Given the description of an element on the screen output the (x, y) to click on. 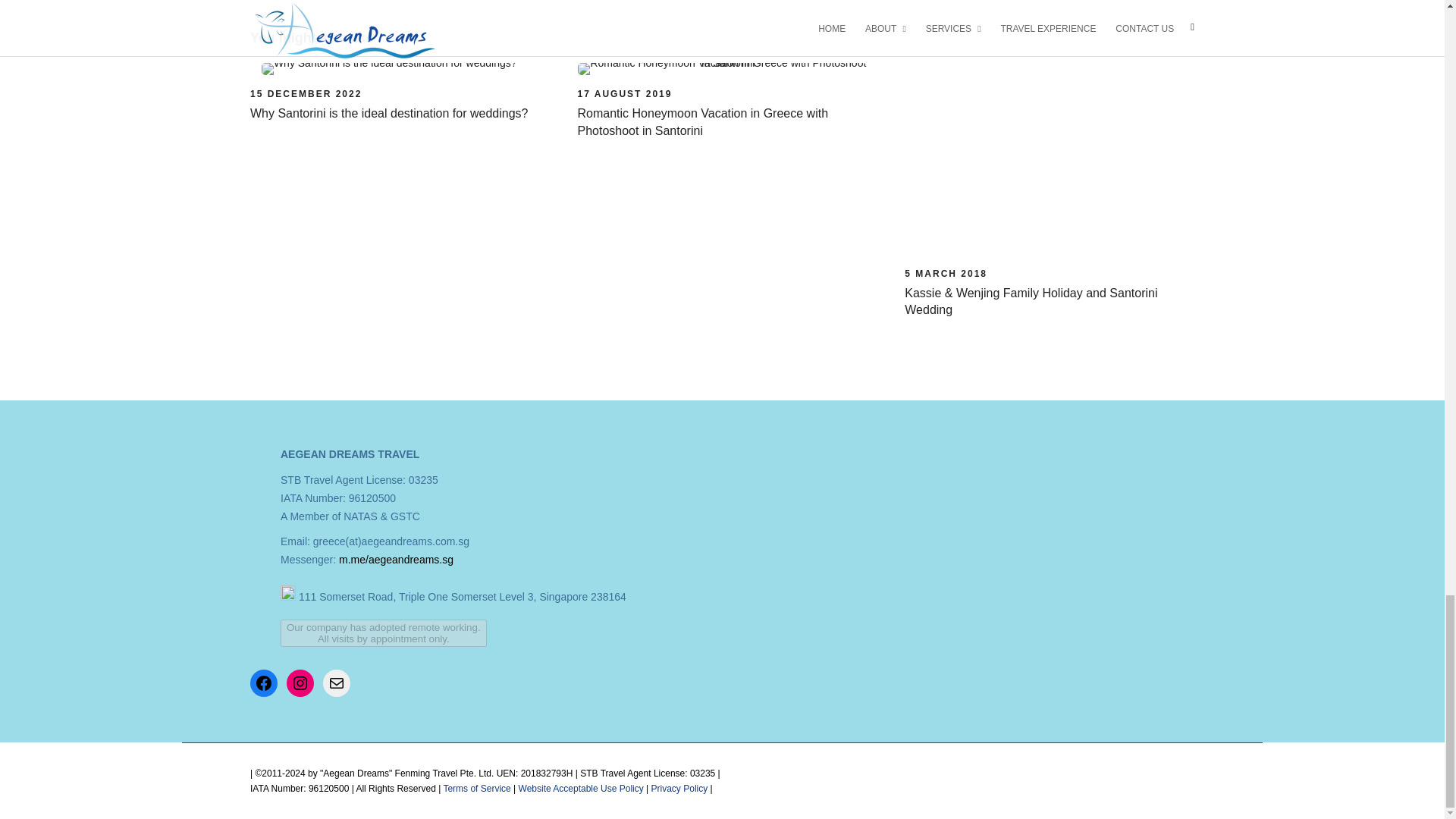
Terms of Service (476, 787)
Why Santorini is the ideal destination for weddings? (388, 113)
Chat with us (395, 559)
Website Acceptable Use Policy (580, 787)
Privacy Policy (678, 787)
Why Santorini is the ideal destination for weddings? (305, 93)
